Given the description of an element on the screen output the (x, y) to click on. 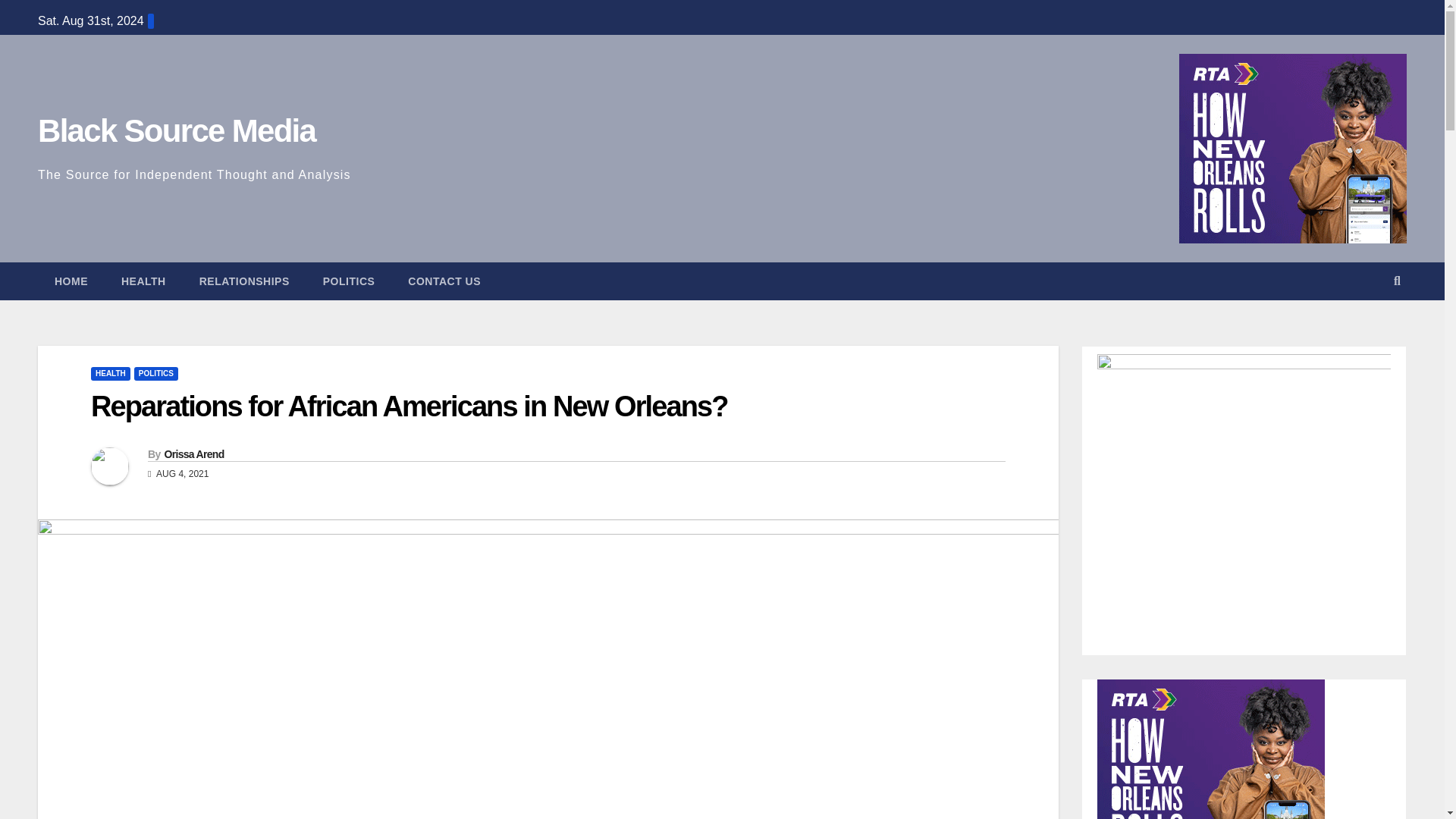
POLITICS (348, 281)
Orissa Arend (193, 453)
HEALTH (143, 281)
Home (70, 281)
Black Source Media (176, 130)
HOME (70, 281)
HEALTH (110, 373)
POLITICS (155, 373)
CONTACT US (444, 281)
